Given the description of an element on the screen output the (x, y) to click on. 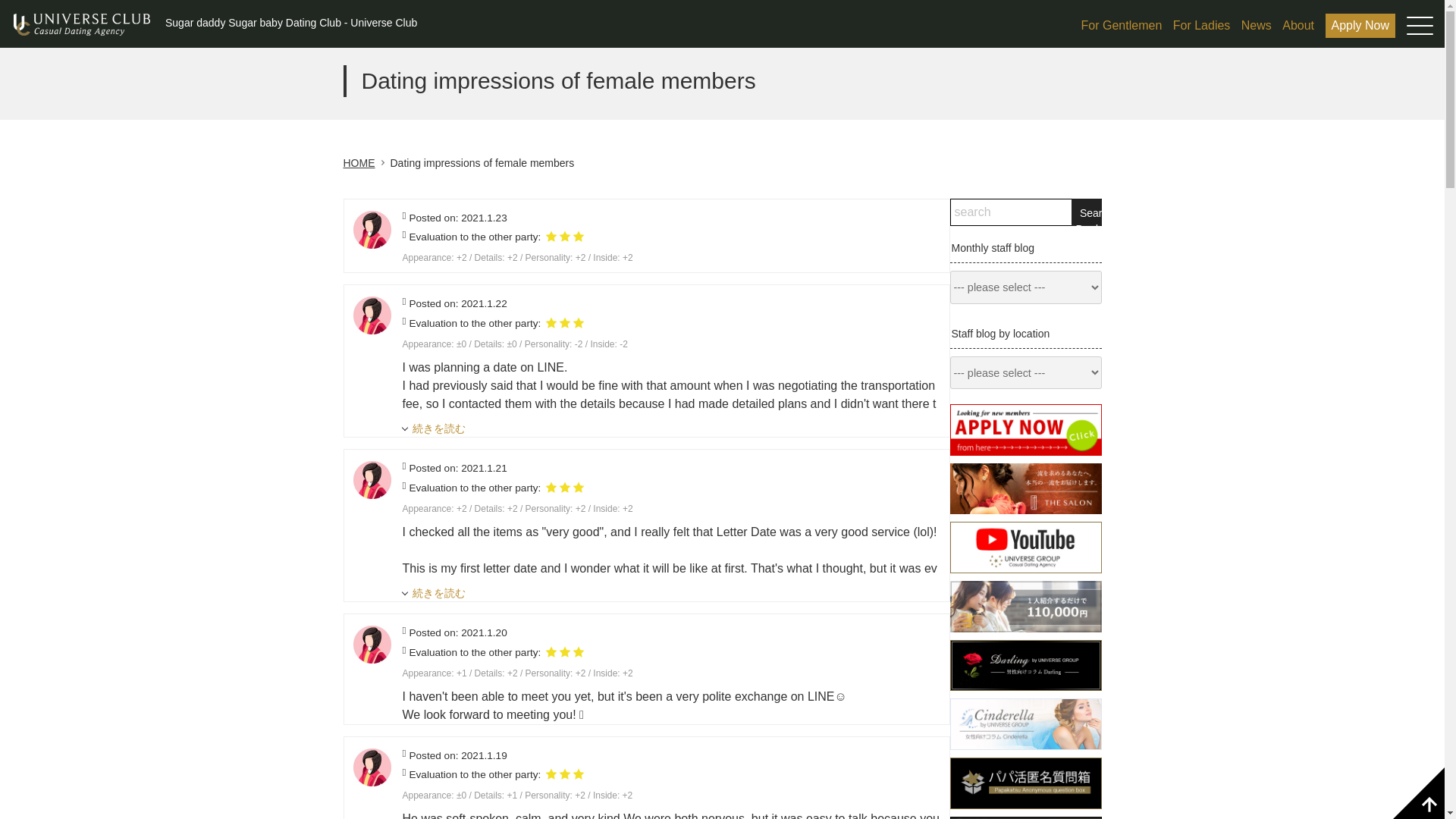
For Ladies (1206, 25)
News (1260, 25)
About (1302, 25)
For Gentlemen (1125, 25)
Apply Now (1359, 25)
